Given the description of an element on the screen output the (x, y) to click on. 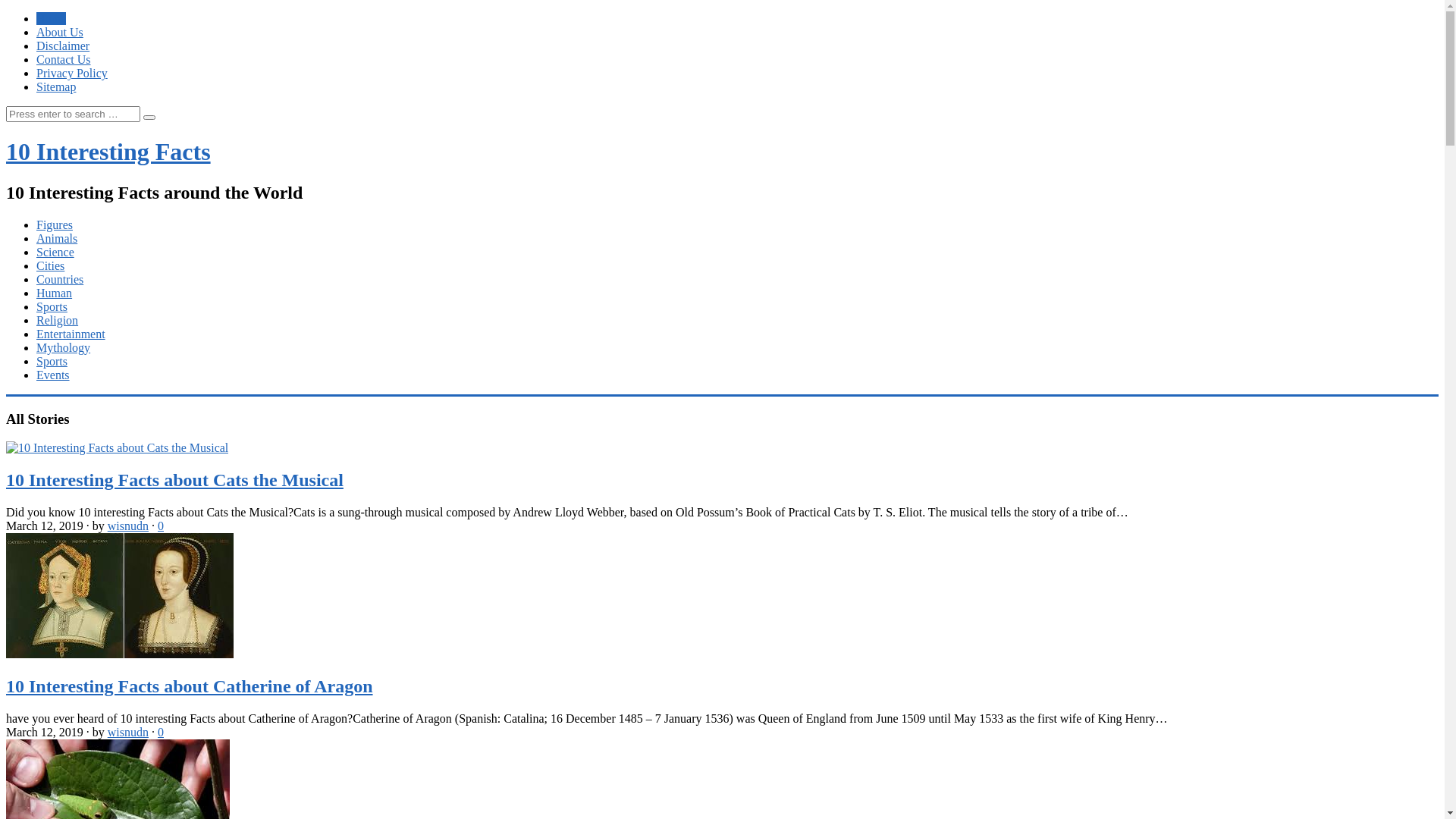
Events Element type: text (52, 374)
Countries Element type: text (59, 279)
Home Element type: text (50, 18)
Religion Element type: text (57, 319)
Contact Us Element type: text (63, 59)
Sports Element type: text (51, 306)
About Us Element type: text (59, 31)
10 Interesting Facts Element type: text (108, 151)
Cities Element type: text (50, 265)
Animals Element type: text (56, 238)
Disclaimer Element type: text (62, 45)
Mythology Element type: text (63, 347)
Sports Element type: text (51, 360)
10 Interesting Facts about Cats the Musical Element type: text (174, 479)
Science Element type: text (55, 251)
10 Interesting Facts about Catherine of Aragon Element type: text (189, 686)
Search for: Element type: hover (73, 114)
Figures Element type: text (54, 224)
Sitemap Element type: text (55, 86)
wisnudn Element type: text (127, 731)
wisnudn Element type: text (127, 525)
Privacy Policy Element type: text (71, 72)
Human Element type: text (54, 292)
Entertainment Element type: text (70, 333)
0 Element type: text (160, 731)
0 Element type: text (160, 525)
